Given the description of an element on the screen output the (x, y) to click on. 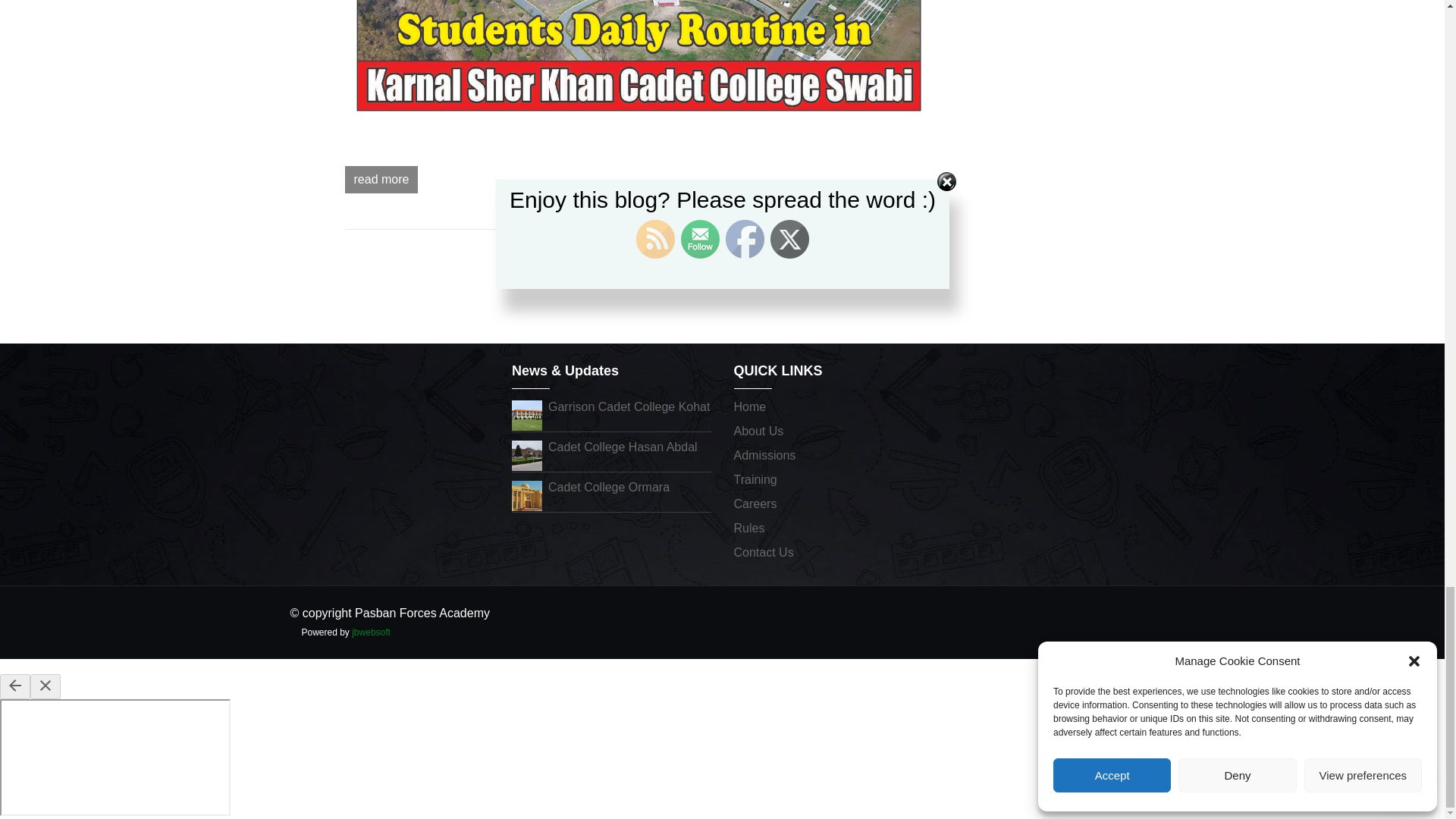
Garrison Cadet College Kohat (629, 406)
Cadet College Ormara (526, 494)
Cadet College Ormara (608, 486)
Cadet College Hasan Abdal (526, 454)
Cadet College Hasan Abdal (622, 446)
Garrison Cadet College Kohat (526, 413)
